Given the description of an element on the screen output the (x, y) to click on. 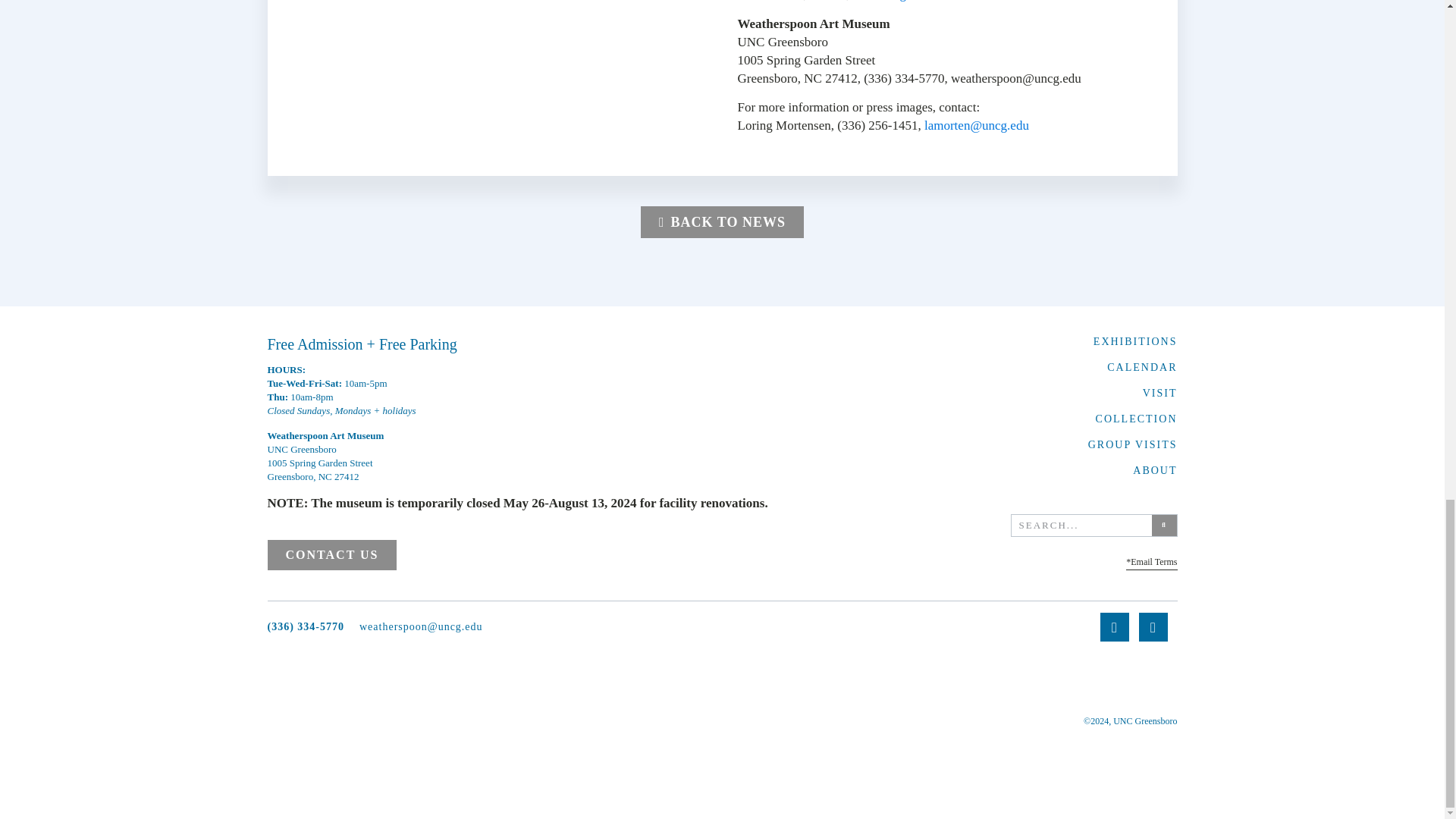
Twitter (827, 0)
CONTACT US (331, 554)
COLLECTION (1136, 419)
BACK TO NEWS (721, 222)
Facebook (778, 0)
GROUP VISITS (1132, 444)
EXHIBITIONS (1135, 341)
Instagram (900, 0)
ABOUT (1154, 470)
VISIT (1159, 392)
CALENDAR (1141, 367)
